Given the description of an element on the screen output the (x, y) to click on. 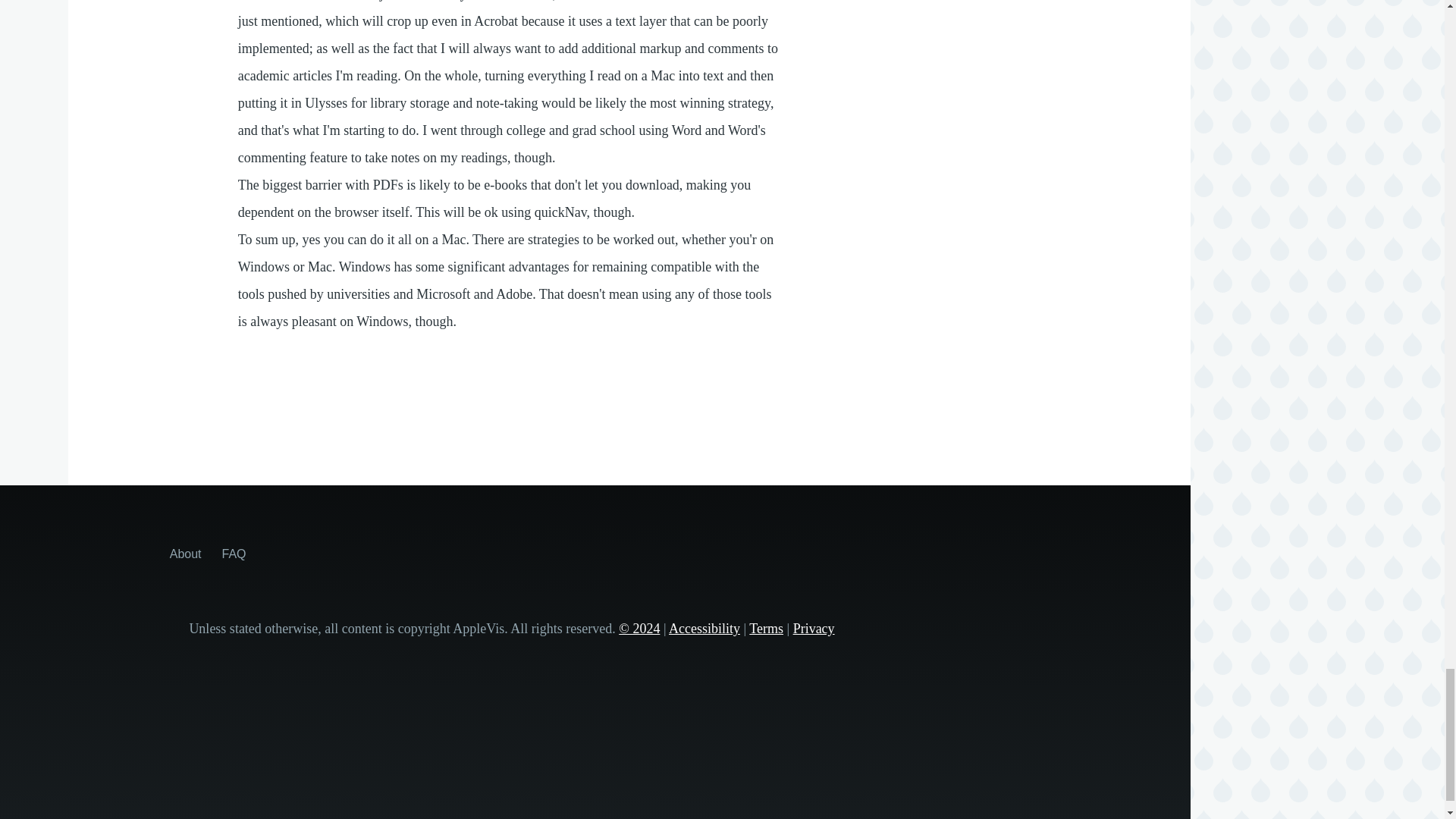
FAQ (234, 553)
Terms (766, 628)
Privacy (813, 628)
About (186, 553)
Accessibility (703, 628)
About (186, 553)
Answers to some frequently asked questions about AppleVis (234, 553)
